Given the description of an element on the screen output the (x, y) to click on. 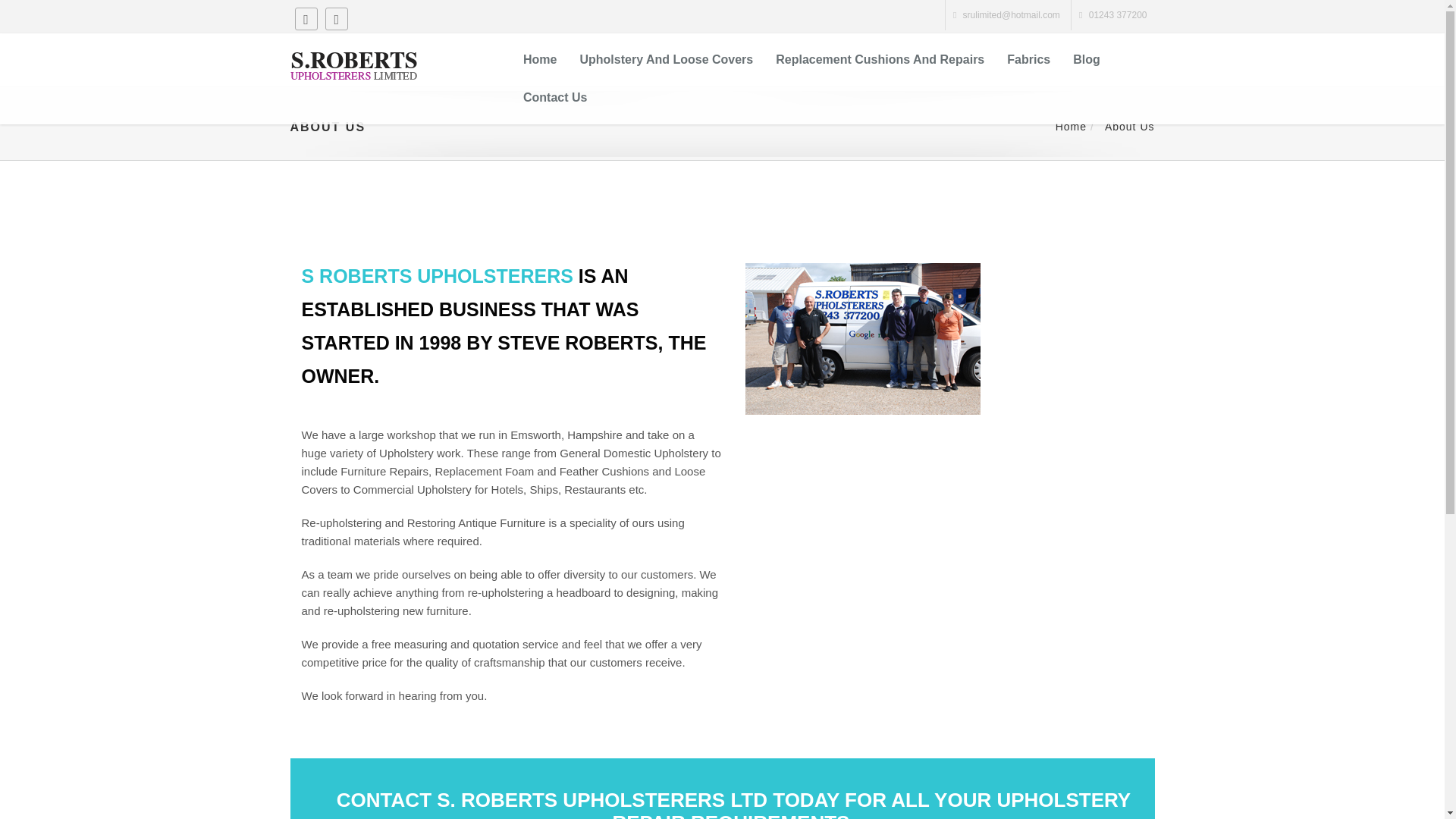
Fabrics (1028, 59)
Upholstery And Loose Covers (665, 59)
Replacement Cushions And Repairs (879, 59)
Home (1070, 126)
Blog (1086, 59)
01243 377200 (1118, 14)
Home (539, 59)
Contact Us (555, 97)
